Given the description of an element on the screen output the (x, y) to click on. 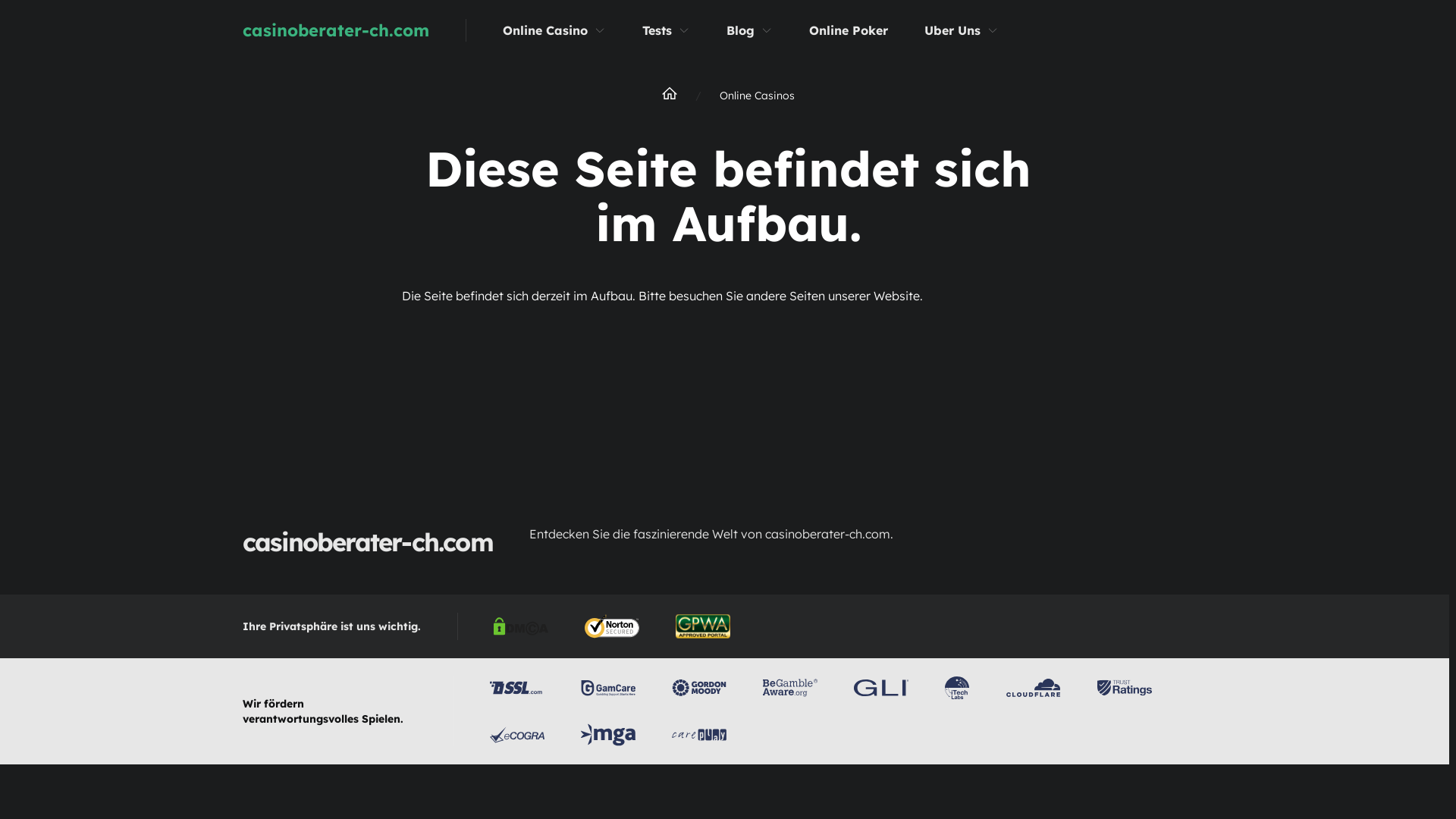
Online Poker Element type: text (848, 30)
casinoberater-ch.com Element type: text (372, 29)
Tests Element type: text (656, 30)
Uber Uns Element type: text (952, 30)
Online Casino Element type: text (544, 30)
Blog Element type: text (740, 30)
casinoberater-ch.com Element type: text (367, 542)
